Given the description of an element on the screen output the (x, y) to click on. 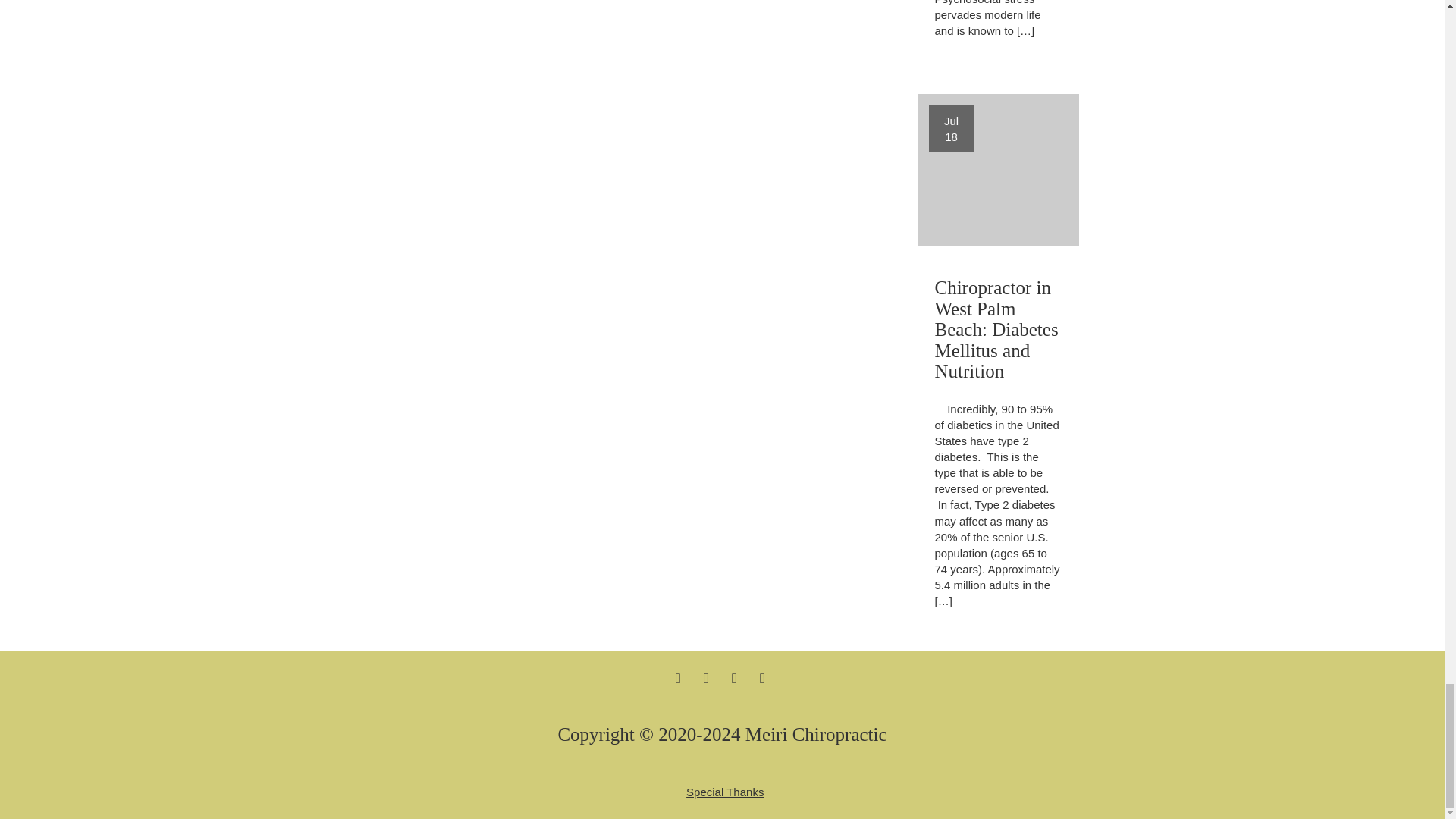
Special Thanks (723, 791)
PINTEREST (733, 677)
FACEBOOK (678, 677)
YOUTUBE (762, 677)
INSTAGRAM (997, 169)
